Given the description of an element on the screen output the (x, y) to click on. 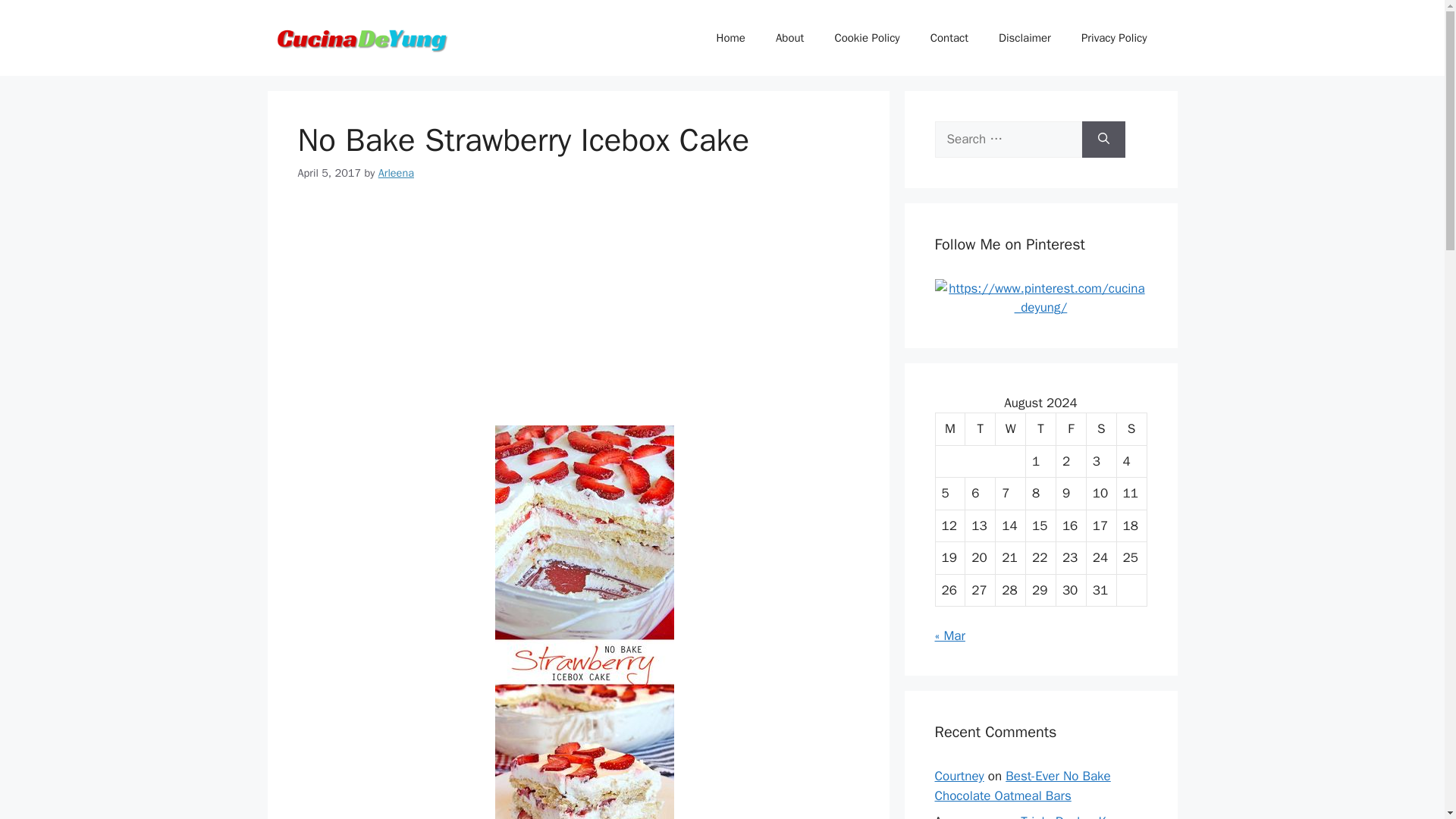
Monday (951, 429)
Best-Ever No Bake Chocolate Oatmeal Bars (1021, 785)
Advertisement (578, 313)
Cookie Policy (866, 37)
Disclaimer (1024, 37)
View all posts by Arleena (395, 172)
Home (730, 37)
About (789, 37)
Search for: (1007, 139)
Privacy Policy (1113, 37)
